Given the description of an element on the screen output the (x, y) to click on. 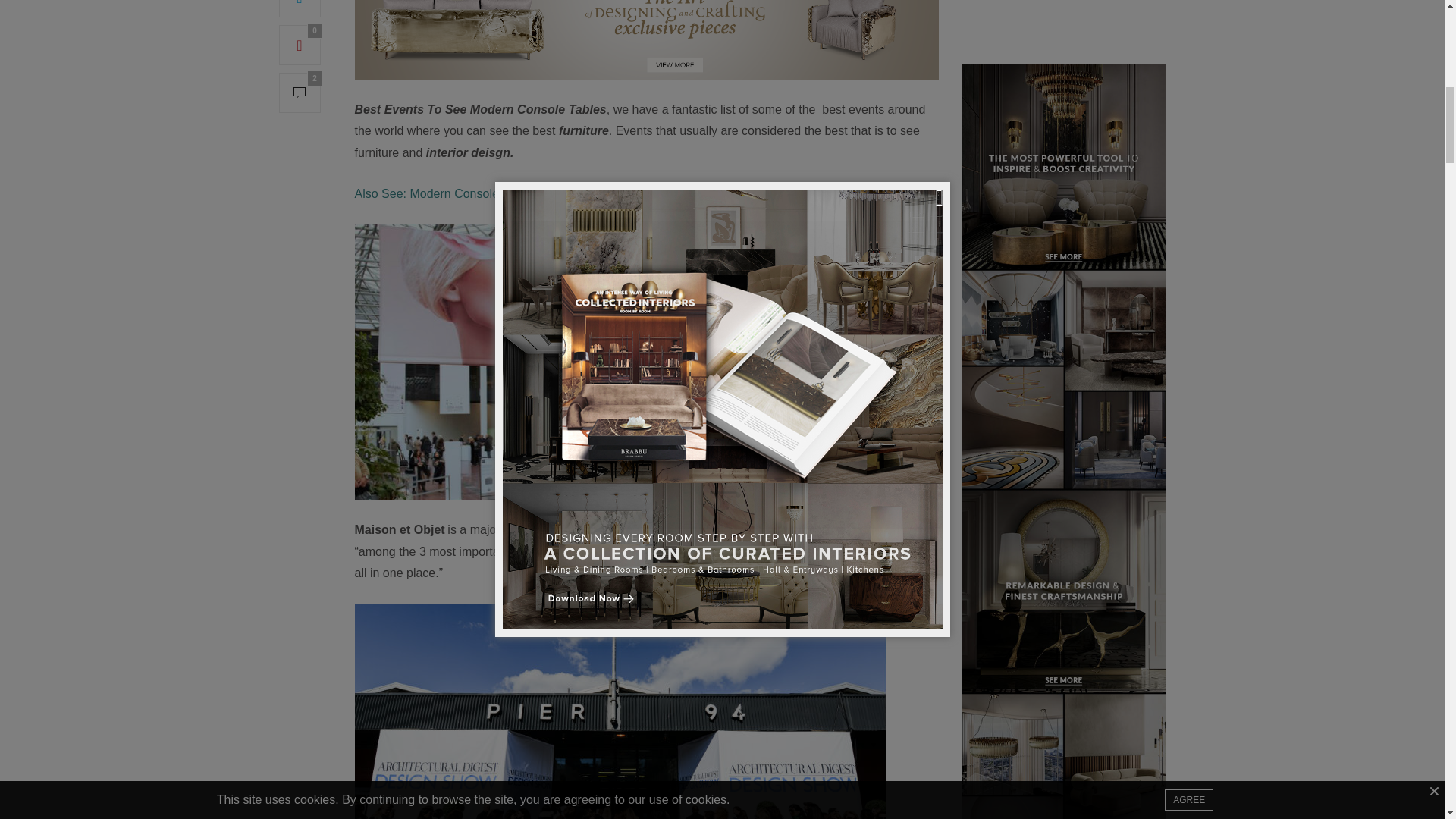
Also See: Modern Console Tables you can find at AD Show 2017 (529, 193)
0 (299, 8)
2 (299, 92)
0 (299, 45)
